Given the description of an element on the screen output the (x, y) to click on. 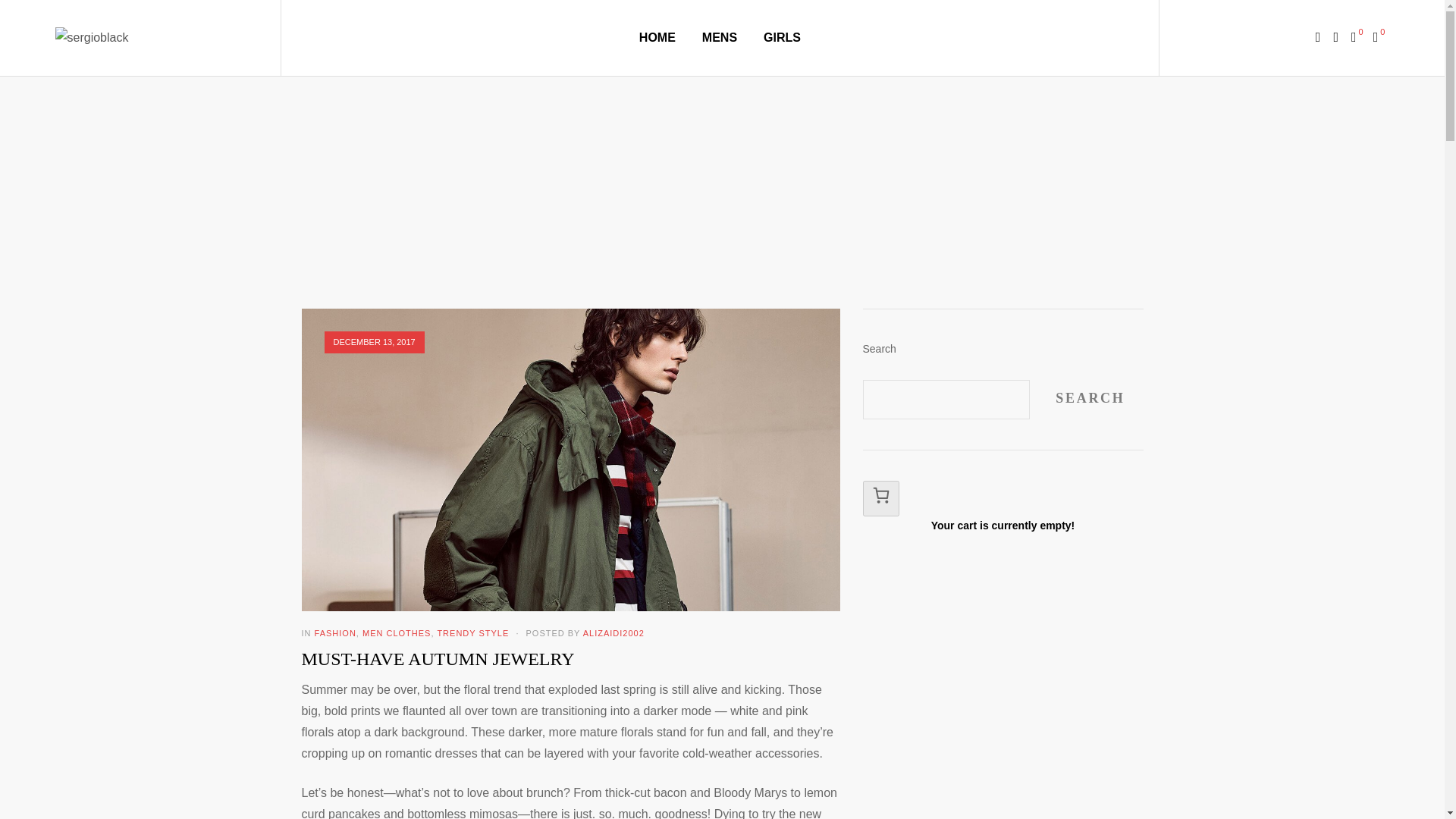
Home (654, 175)
FASHION (335, 633)
DECEMBER 13, 2017 (373, 341)
MENS (718, 37)
Go to Blog. (705, 175)
Blog (705, 175)
HOME (657, 37)
GIRLS (781, 37)
Go to Sergio Zeviani. (654, 175)
sergioblack (100, 37)
